Given the description of an element on the screen output the (x, y) to click on. 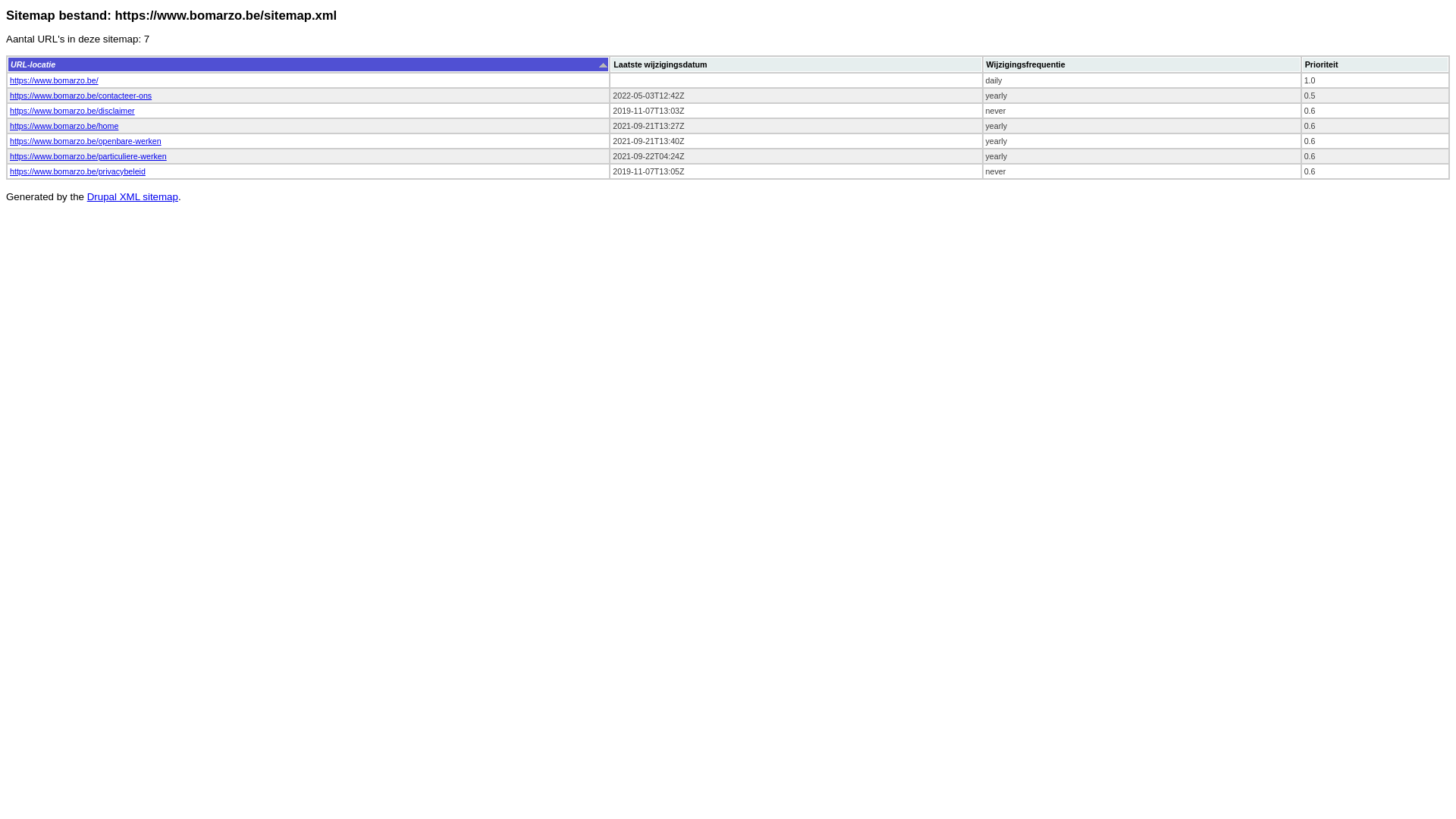
https://www.bomarzo.be/home Element type: text (63, 125)
https://www.bomarzo.be/disclaimer Element type: text (71, 110)
https://www.bomarzo.be/contacteer-ons Element type: text (80, 95)
https://www.bomarzo.be/particuliere-werken Element type: text (87, 155)
Drupal XML sitemap Element type: text (132, 196)
https://www.bomarzo.be/privacybeleid Element type: text (77, 170)
https://www.bomarzo.be/ Element type: text (53, 79)
https://www.bomarzo.be/openbare-werken Element type: text (85, 140)
